Given the description of an element on the screen output the (x, y) to click on. 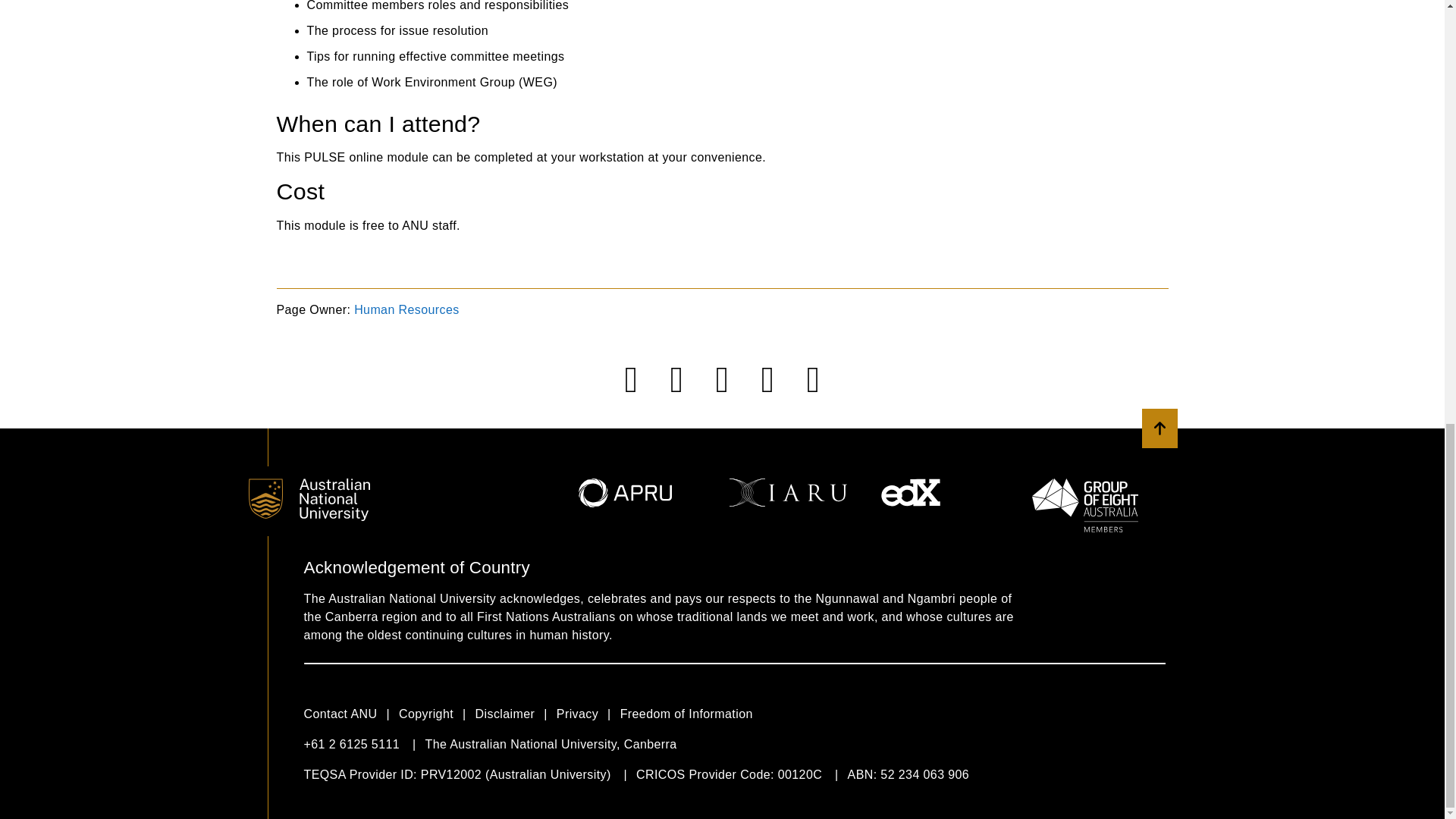
Back to top (1159, 427)
Contact ANU (349, 714)
Human Resources (406, 309)
